Given the description of an element on the screen output the (x, y) to click on. 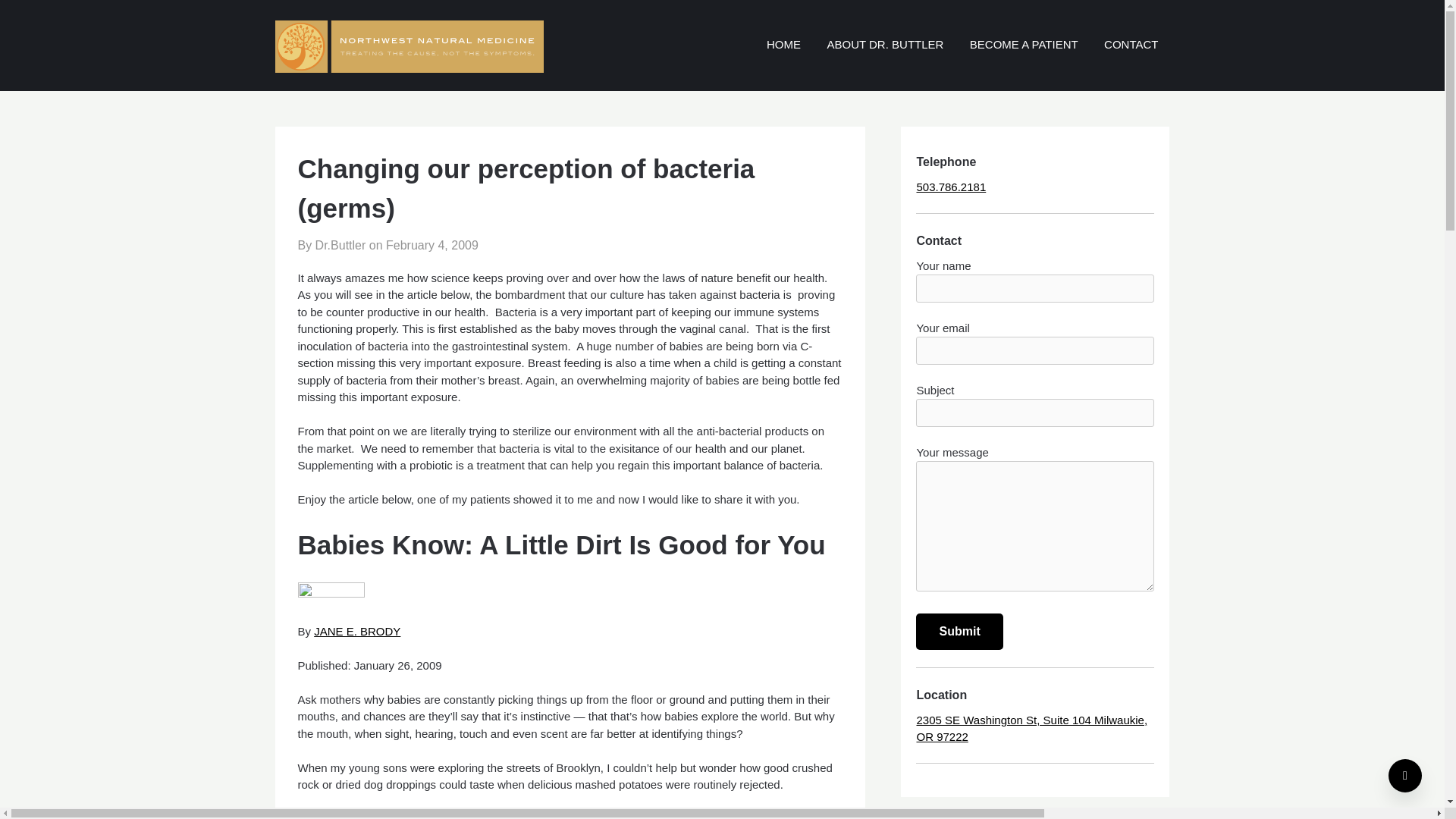
JANE E. BRODY (357, 631)
ABOUT DR. BUTTLER (885, 45)
Lookup Word (616, 521)
503.786.2181 (950, 186)
February 4, 2009 (432, 245)
More Articles by Jane E. Brody (357, 631)
2305 SE Washington St, Suite 104 Milwaukie, OR 97222 (1031, 728)
Submit (959, 631)
HOME (783, 45)
Submit (959, 631)
Northwest Natural Medicine (999, 25)
CONTACT (1131, 45)
BECOME A PATIENT (1023, 45)
